Given the description of an element on the screen output the (x, y) to click on. 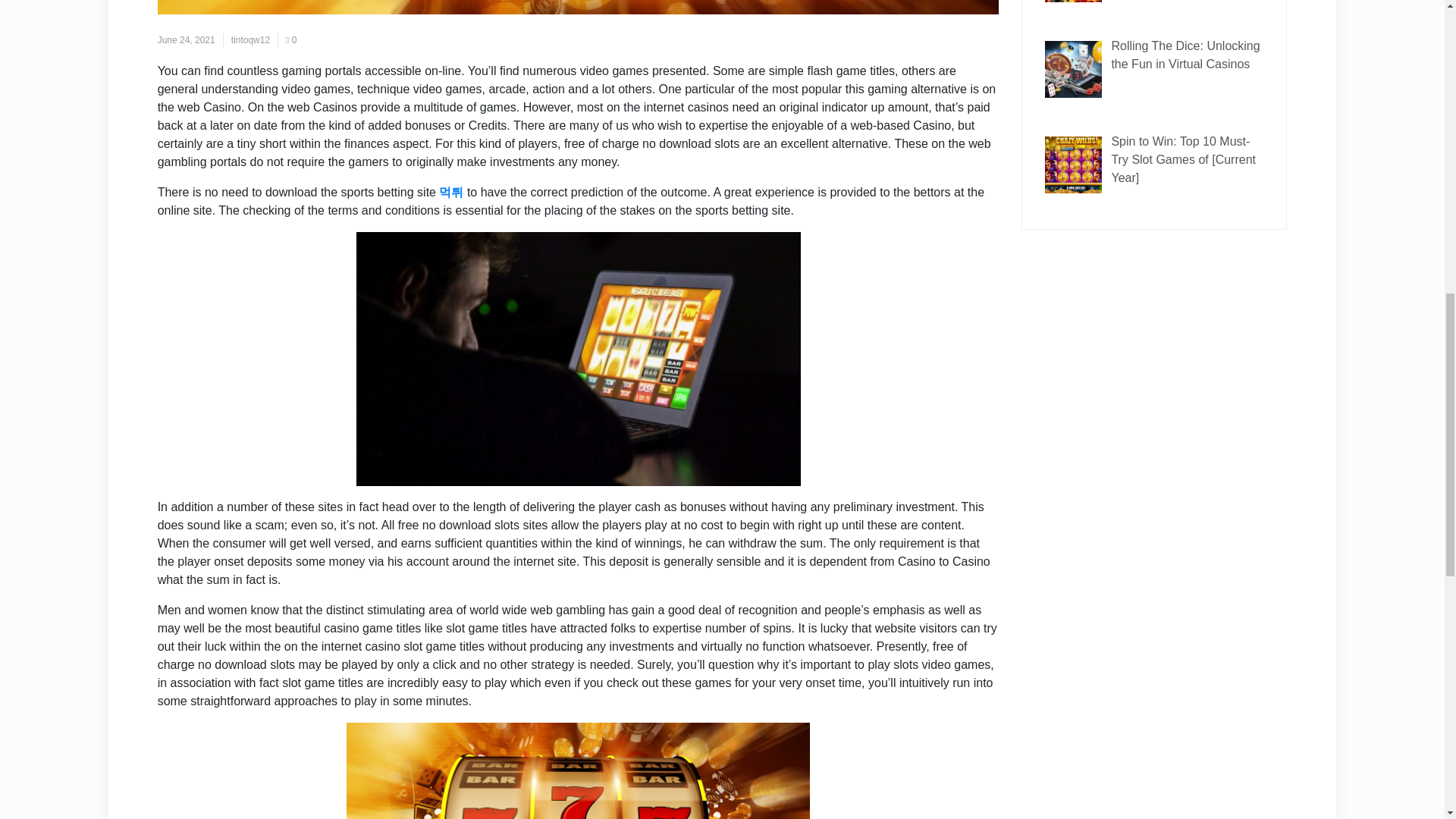
June 24, 2021 (186, 40)
tintoqw12 (250, 40)
Rolling The Dice: Unlocking the Fun in Virtual Casinos (1184, 54)
